Given the description of an element on the screen output the (x, y) to click on. 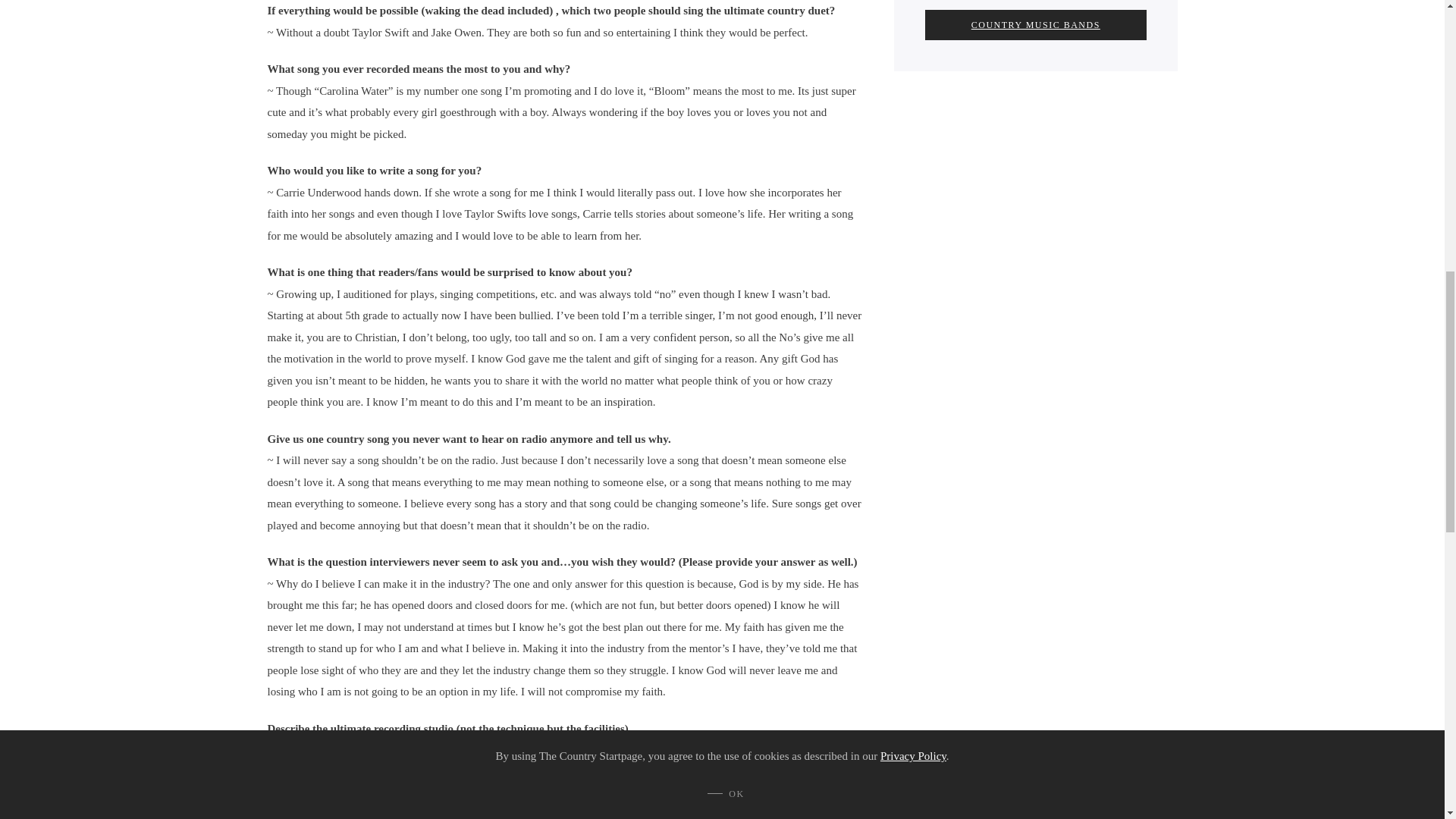
list of country bands (1034, 24)
